Given the description of an element on the screen output the (x, y) to click on. 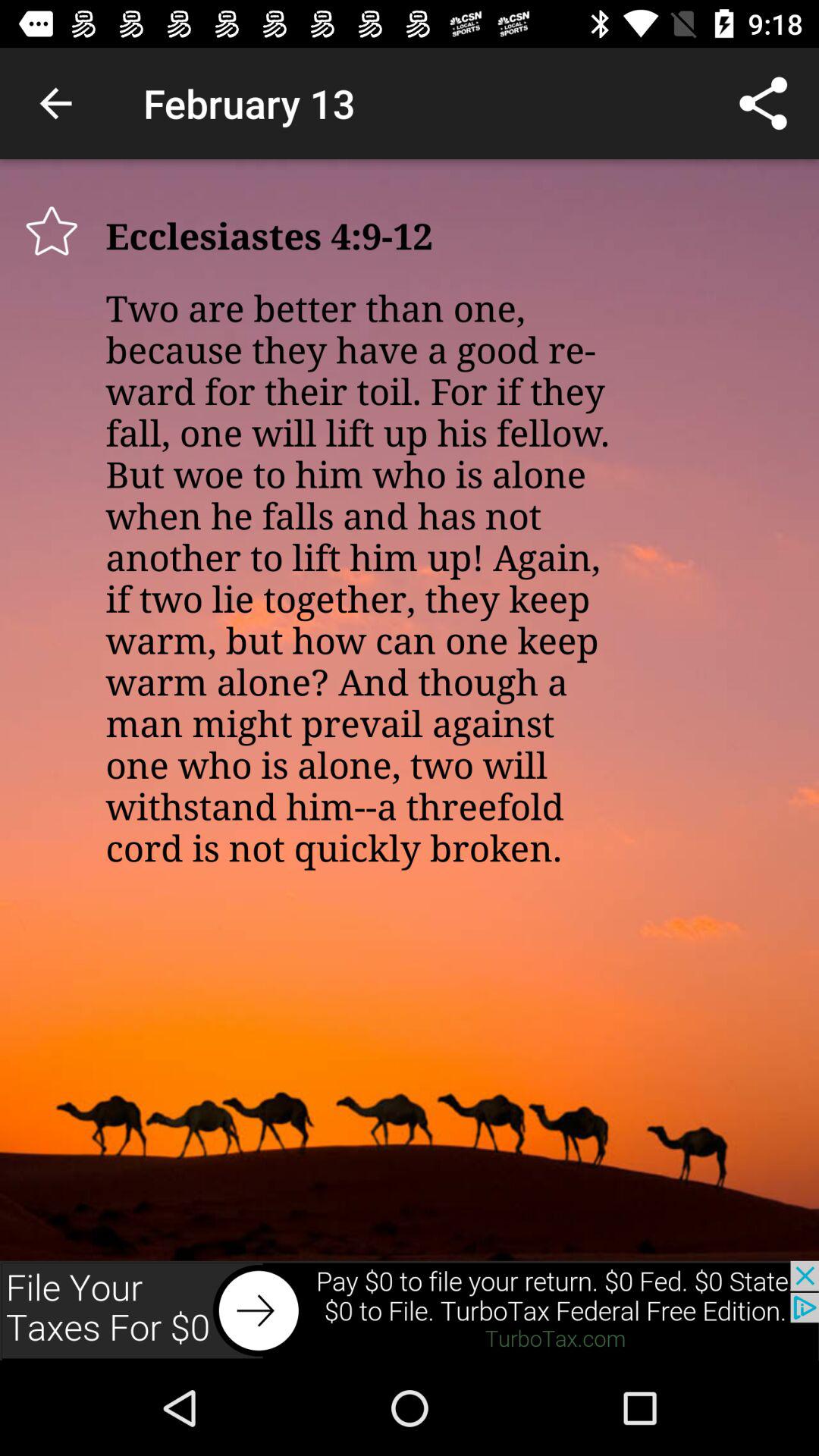
star this item (51, 230)
